Given the description of an element on the screen output the (x, y) to click on. 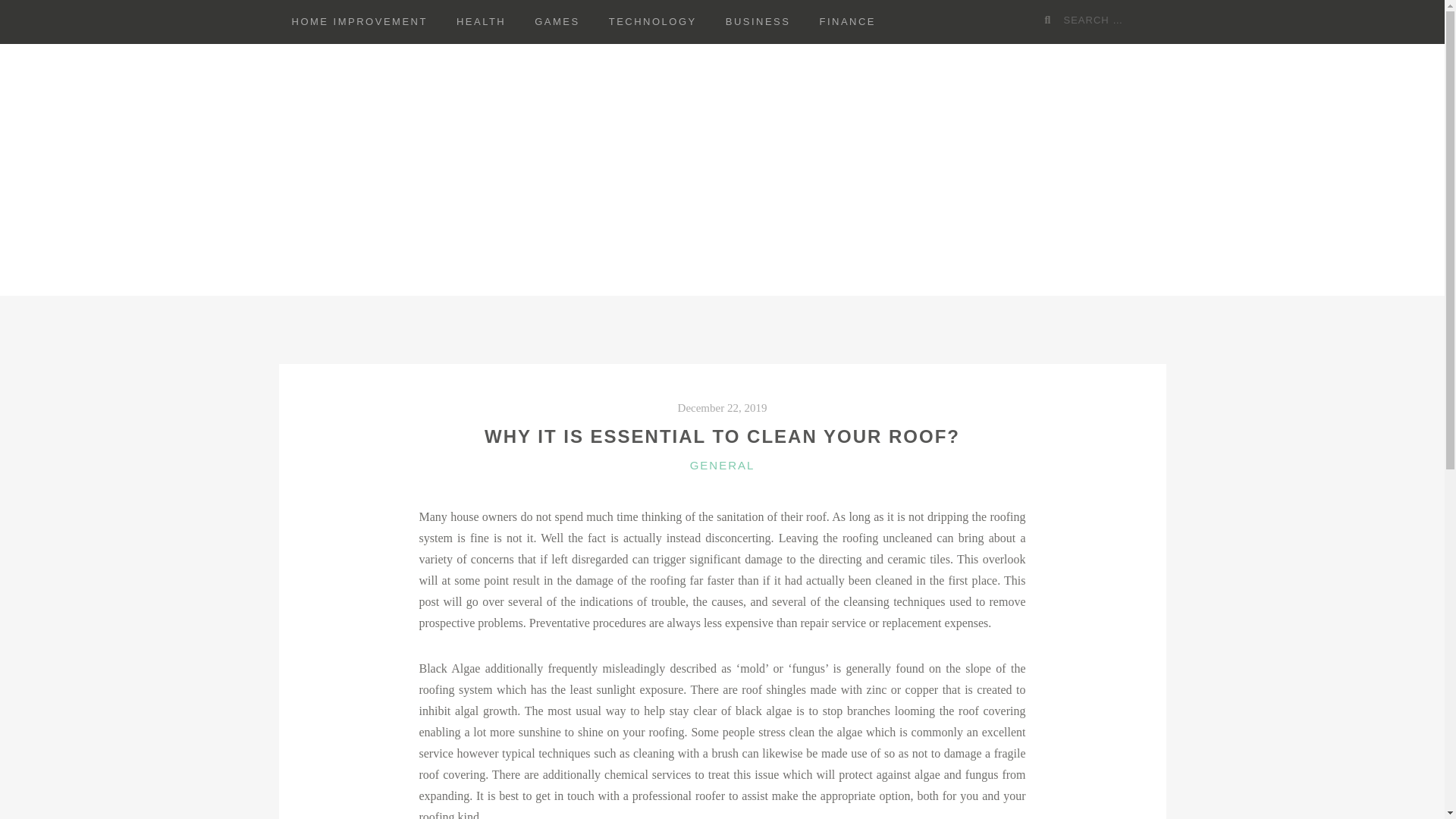
December 22, 2019 (722, 408)
GAMES (556, 21)
HOME IMPROVEMENT (360, 21)
TECHNOLOGY (652, 21)
HEALTH (481, 21)
GENERAL (722, 464)
BUSINESS (758, 21)
FINANCE (847, 21)
